Given the description of an element on the screen output the (x, y) to click on. 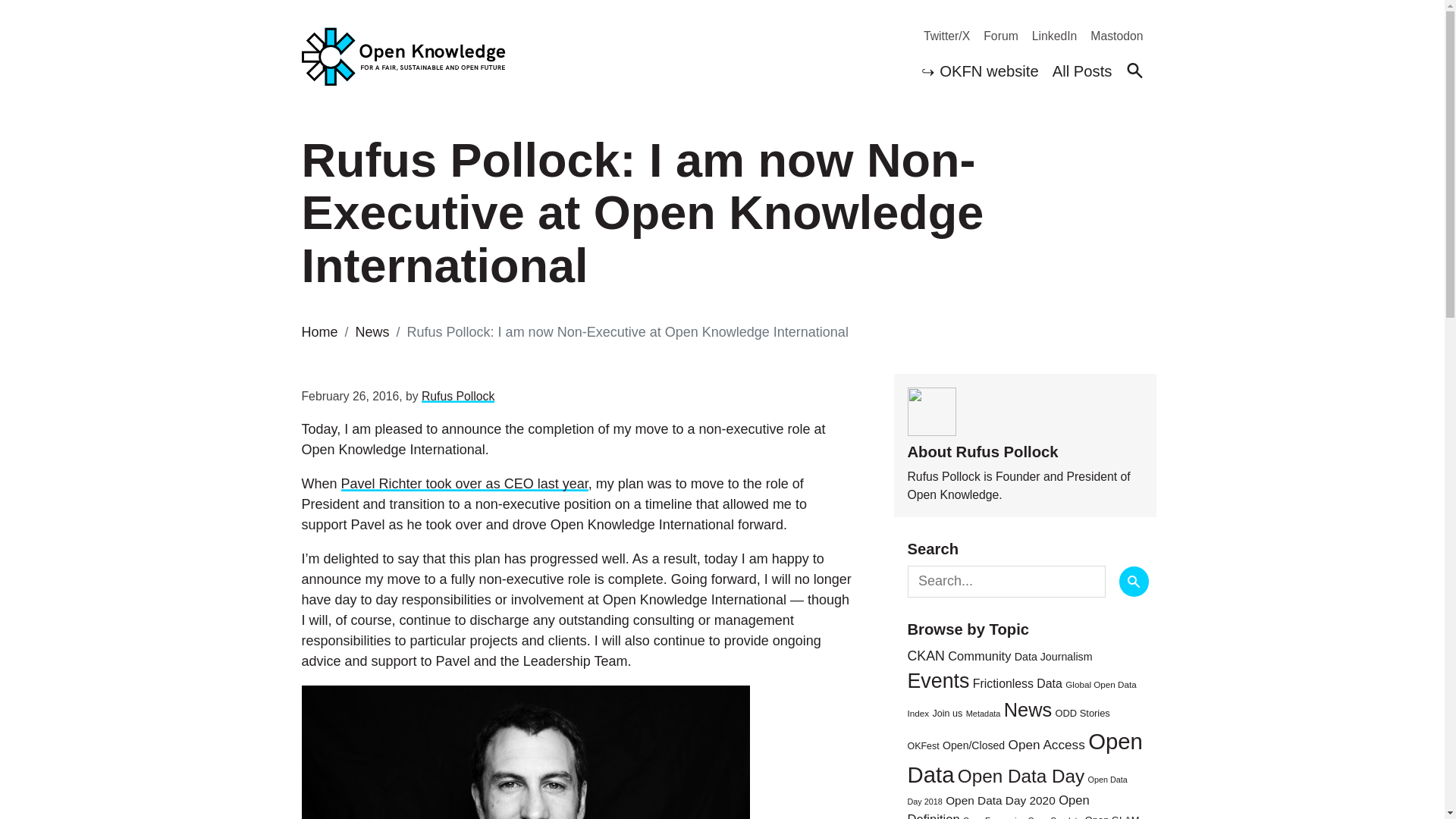
All Posts (1082, 72)
Community (978, 655)
Mastodon (1109, 36)
News (1027, 709)
Posts by Rufus Pollock (458, 395)
News (372, 331)
OKFest (923, 746)
Rufus Pollock (458, 395)
Pavel Richter took over as CEO last year (464, 483)
ODD Stories (1082, 713)
